Given the description of an element on the screen output the (x, y) to click on. 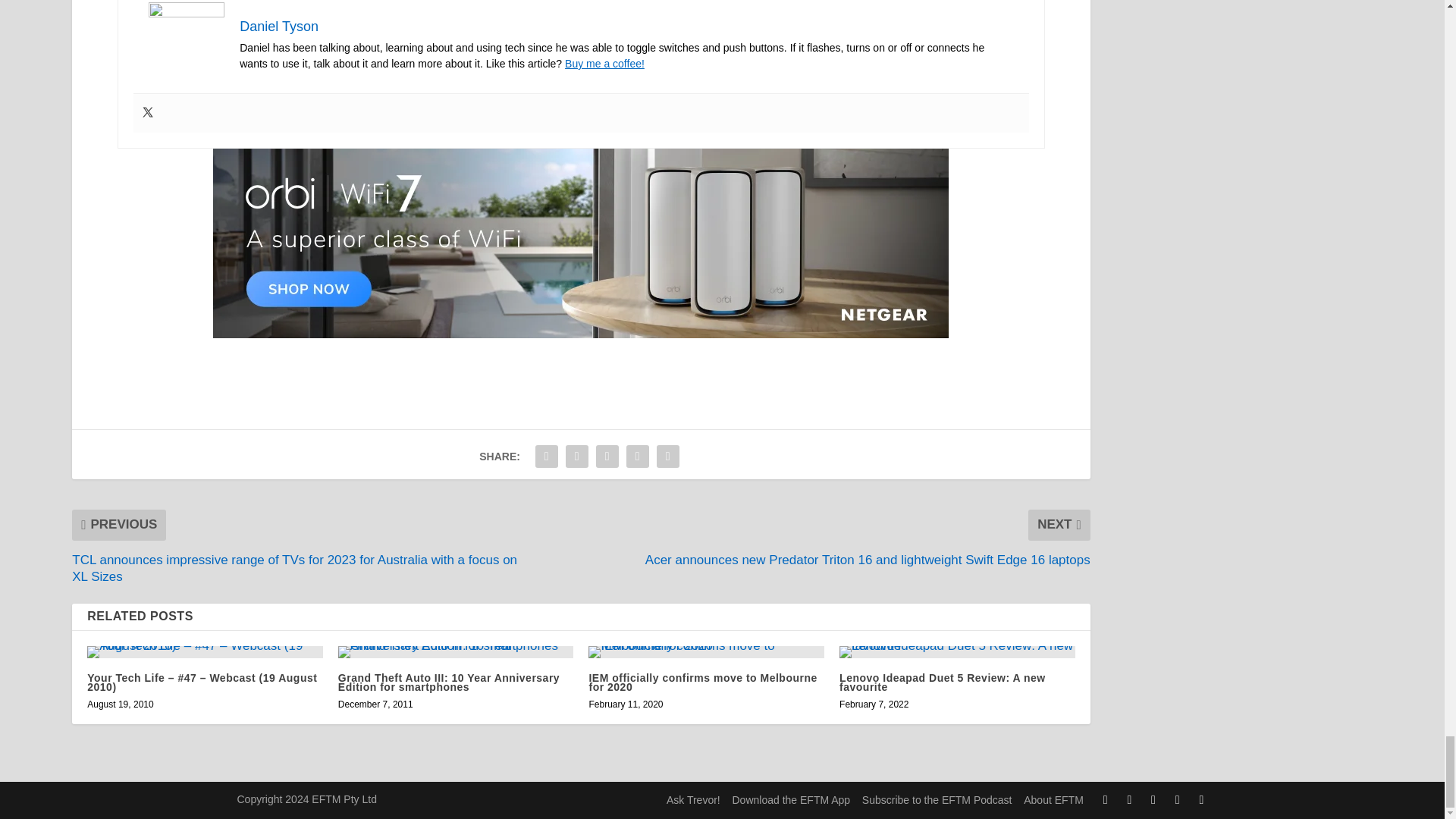
Lenovo Ideapad Duet 5 Review: A new favourite (957, 652)
IEM officially confirms move to Melbourne for 2020 (706, 652)
Daniel Tyson (279, 26)
Buy me a coffee! (604, 63)
